Given the description of an element on the screen output the (x, y) to click on. 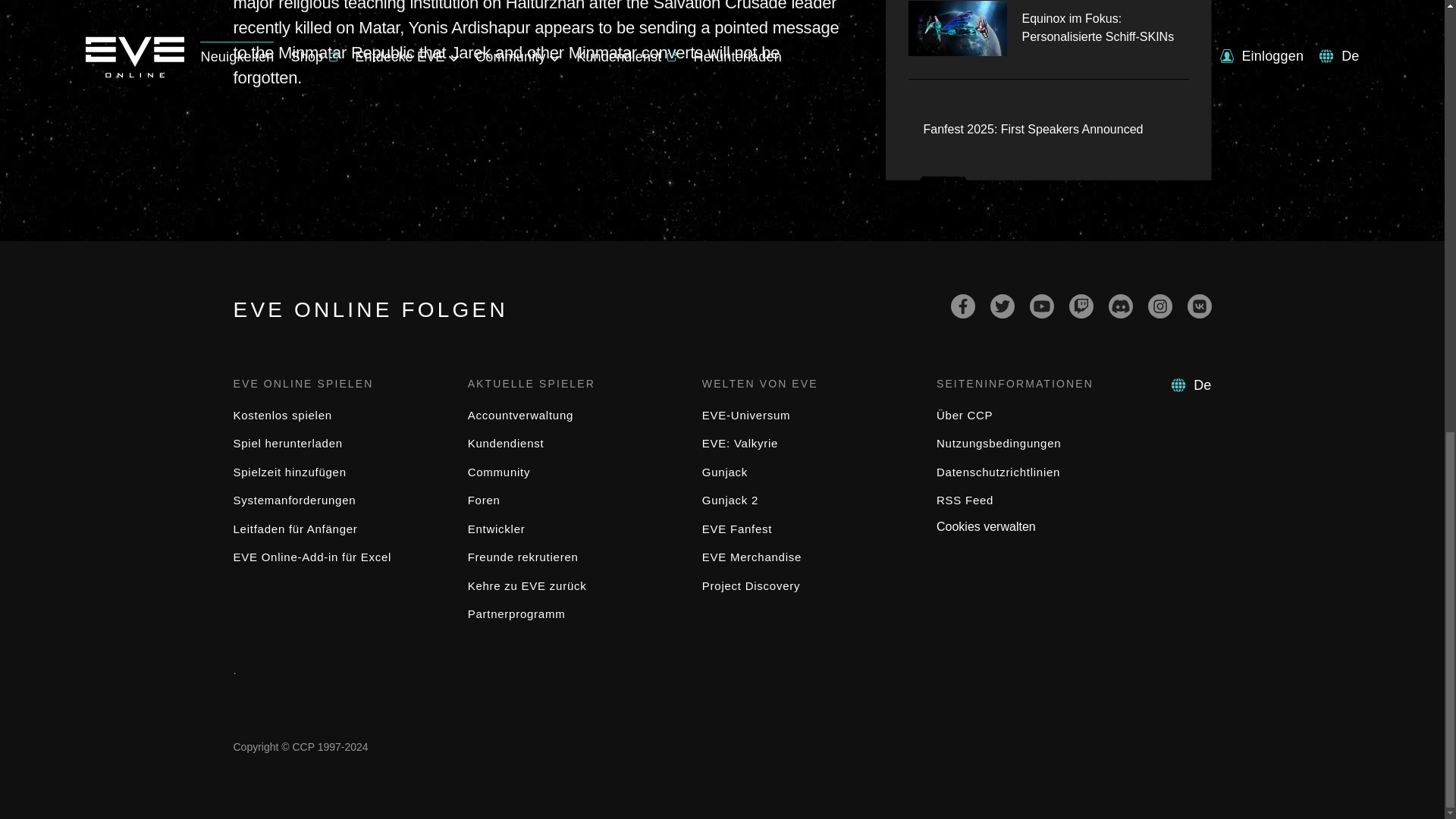
YouTube (1041, 306)
Instagram (1160, 306)
VK (1199, 306)
Discord (1120, 306)
Twitter (1002, 306)
Facebook (962, 306)
Twitch (1080, 306)
